Given the description of an element on the screen output the (x, y) to click on. 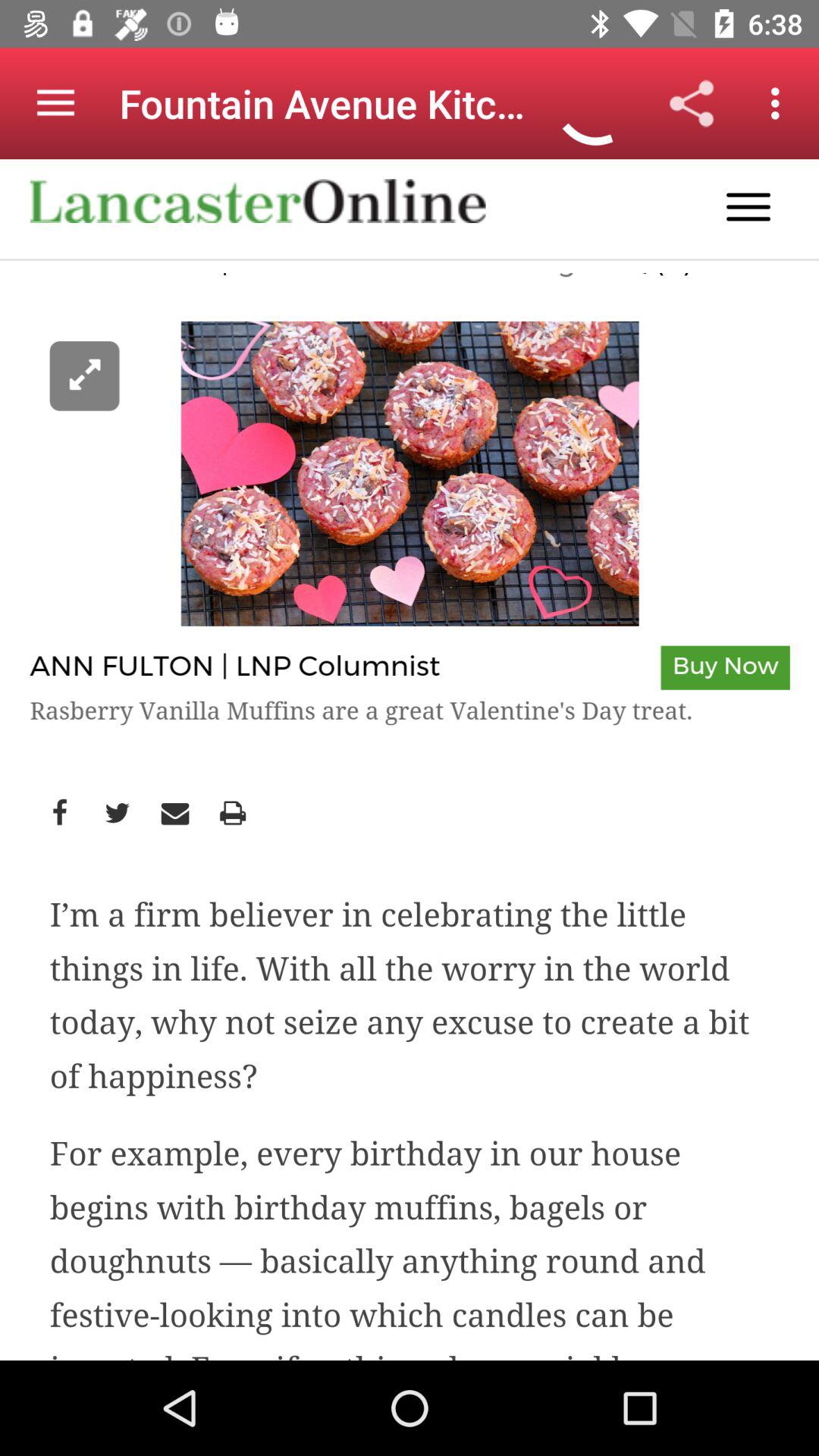
add option (409, 759)
